Given the description of an element on the screen output the (x, y) to click on. 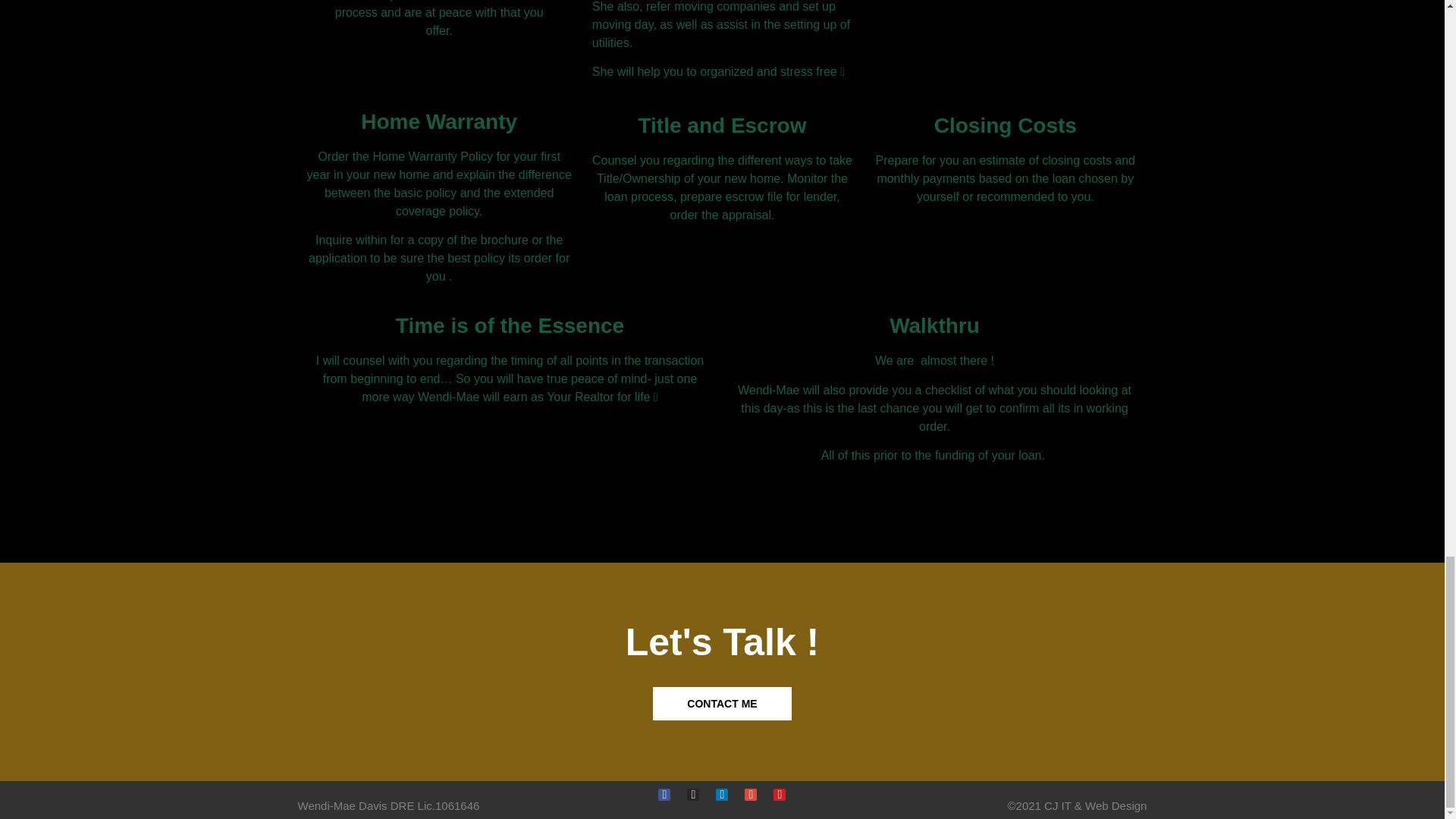
CONTACT ME (721, 703)
